Given the description of an element on the screen output the (x, y) to click on. 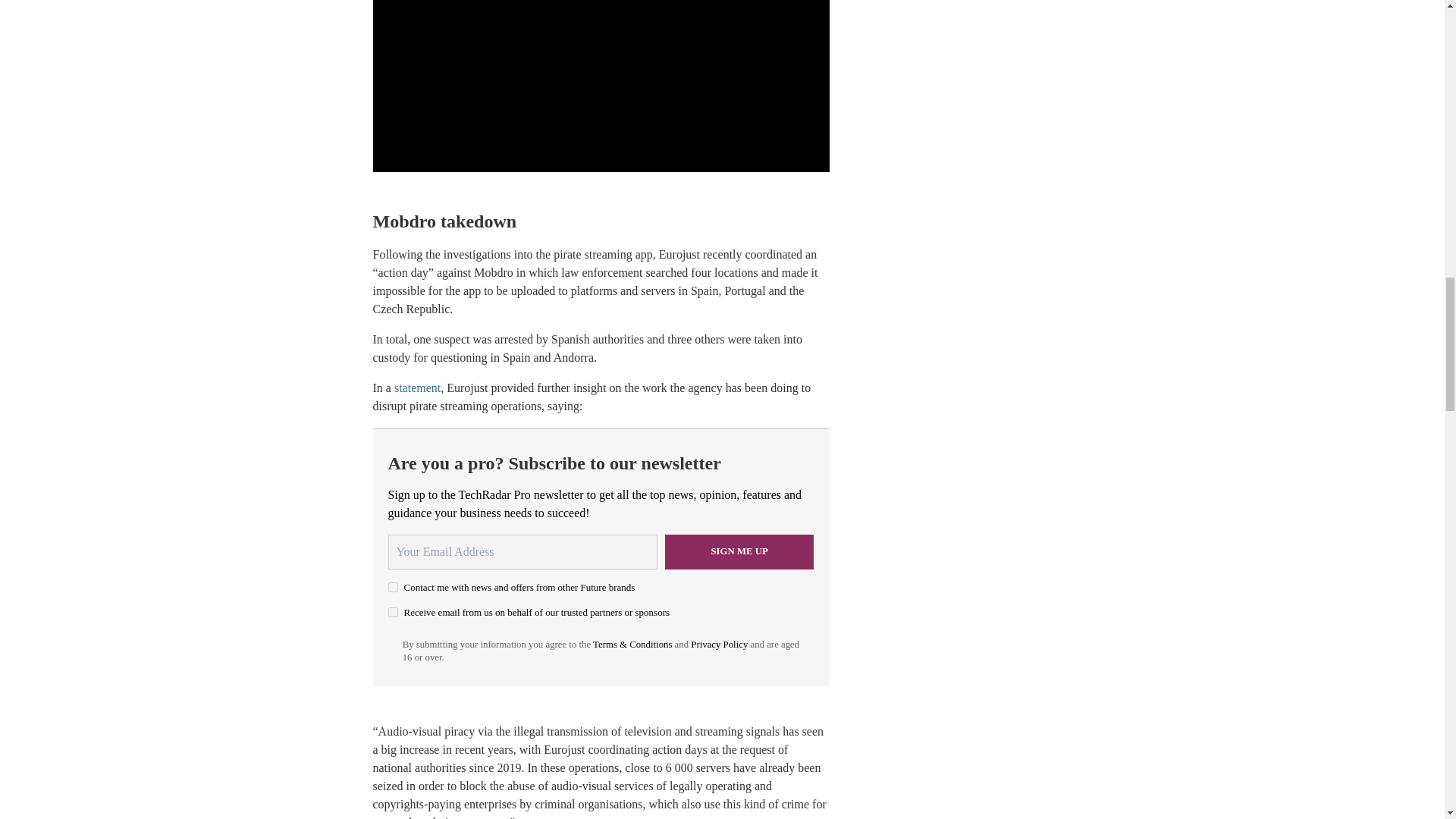
on (392, 587)
Sign me up (739, 551)
on (392, 612)
